Given the description of an element on the screen output the (x, y) to click on. 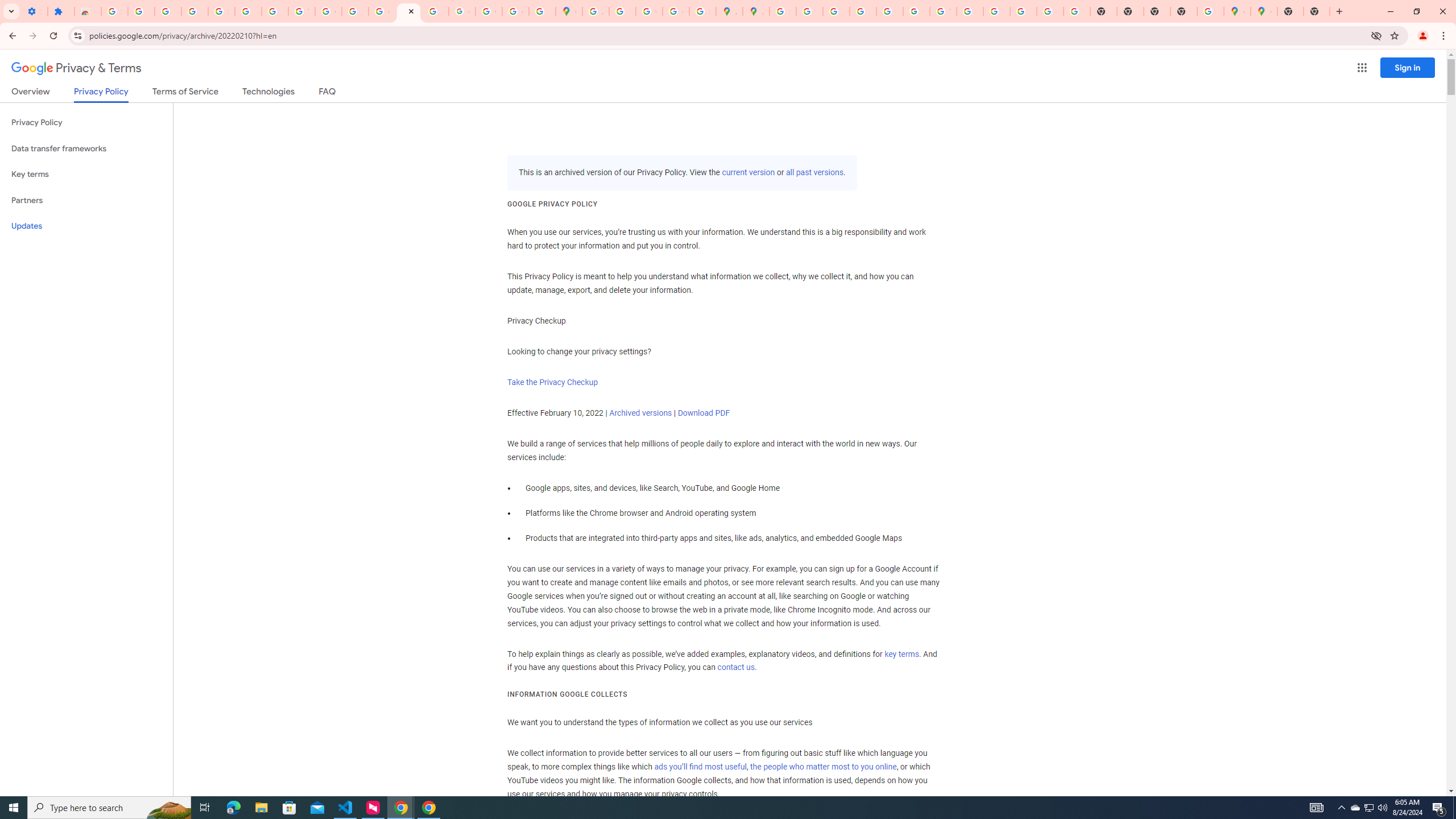
Safety in Our Products - Google Safety Center (702, 11)
Privacy Help Center - Policies Help (862, 11)
Browse Chrome as a guest - Computer - Google Chrome Help (970, 11)
Settings - On startup (34, 11)
Technologies (268, 93)
Learn how to find your photos - Google Photos Help (167, 11)
